Given the description of an element on the screen output the (x, y) to click on. 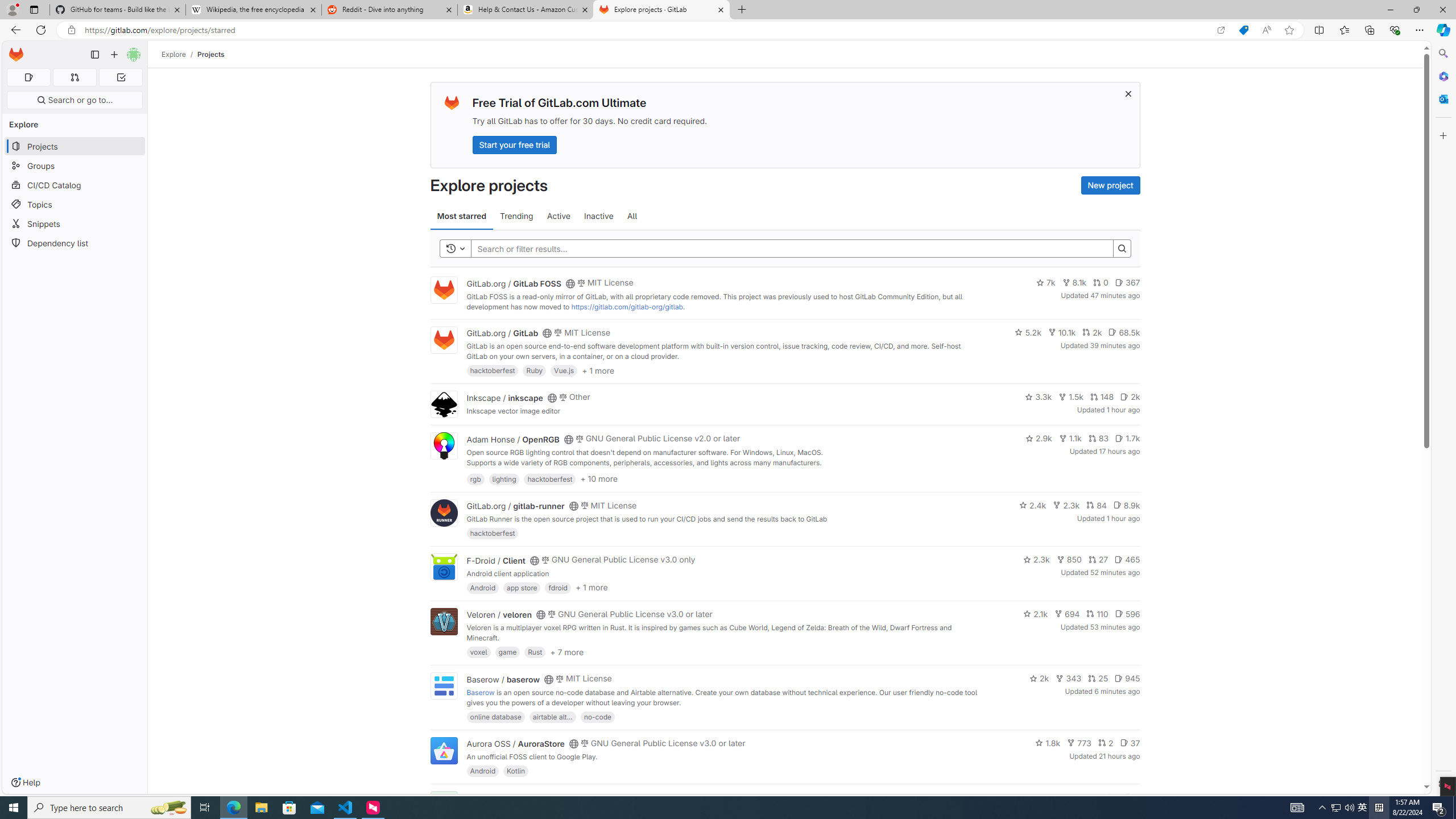
1.7k (1127, 438)
2 (1105, 742)
850 (1068, 559)
Inactive (598, 216)
7k (1045, 282)
945 (1127, 678)
3.3k (1038, 396)
Start your free trial (514, 144)
Toggle history (455, 248)
CI/CD Catalog (74, 185)
8.9k (1126, 504)
